Given the description of an element on the screen output the (x, y) to click on. 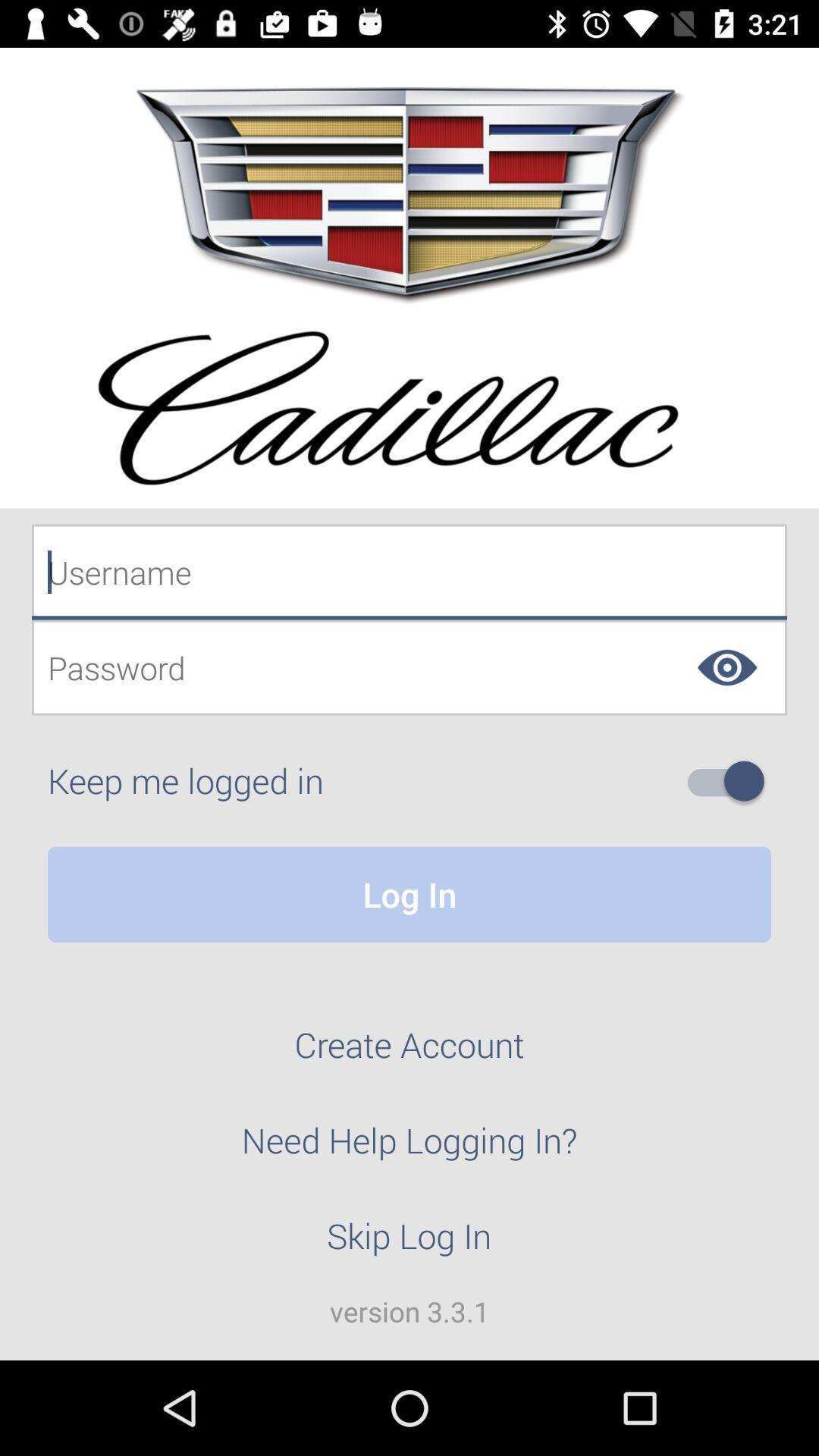
choose icon below the create account icon (409, 1149)
